Given the description of an element on the screen output the (x, y) to click on. 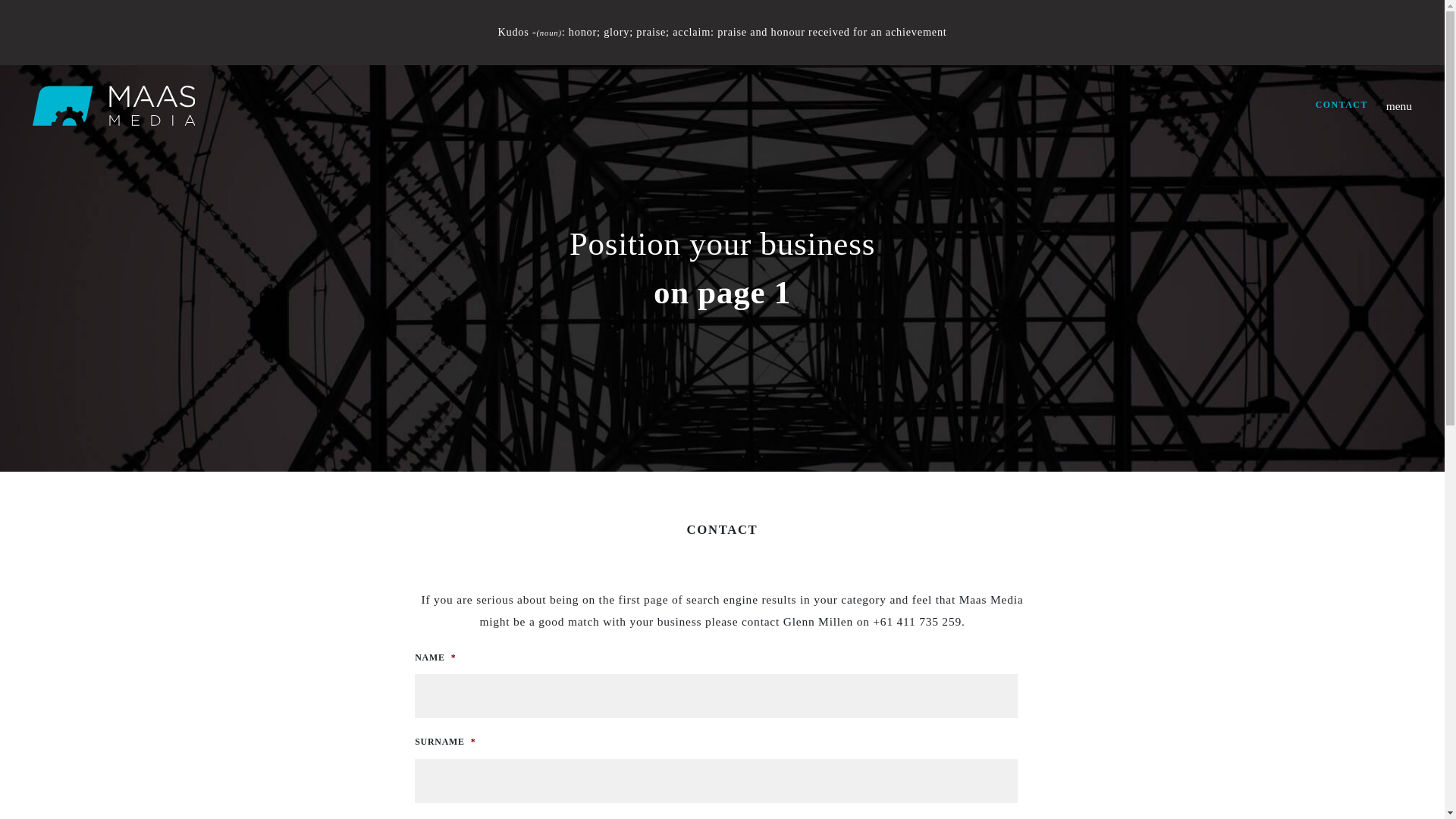
CONTACT Element type: text (1341, 104)
